Given the description of an element on the screen output the (x, y) to click on. 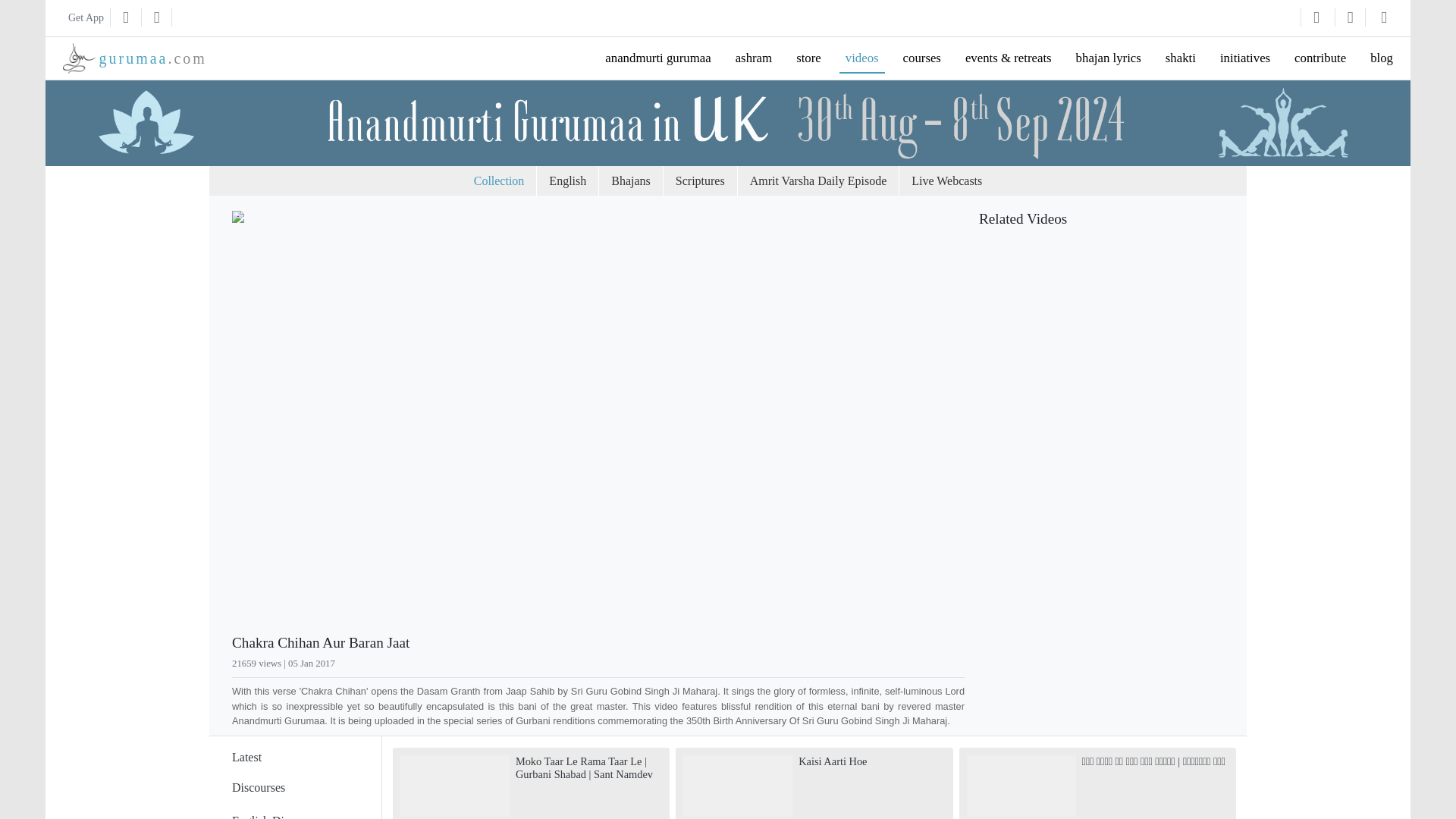
Scriptures (795, 181)
871 videos (294, 804)
9 (506, 663)
shakti (1180, 57)
Scriptures (795, 181)
Live Webcasts (508, 181)
Amrit Varsha Daily Episode (913, 181)
Bhajans (726, 181)
bhajan lyrics (1108, 57)
English (662, 181)
initiatives (1245, 57)
LIVE (863, 57)
ashram (757, 57)
Bhajans (726, 181)
